Given the description of an element on the screen output the (x, y) to click on. 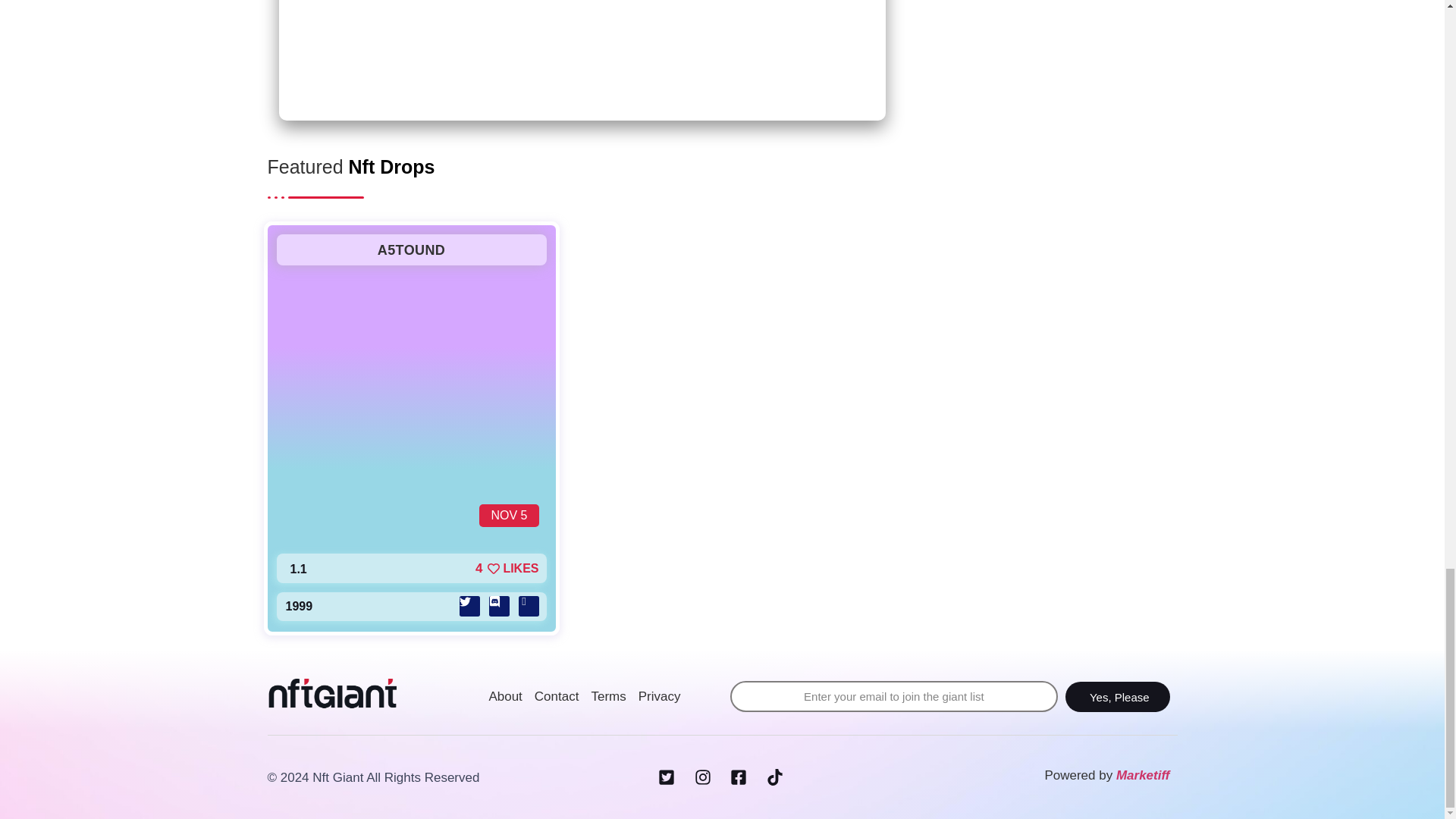
About (504, 696)
LIKES (512, 568)
